Given the description of an element on the screen output the (x, y) to click on. 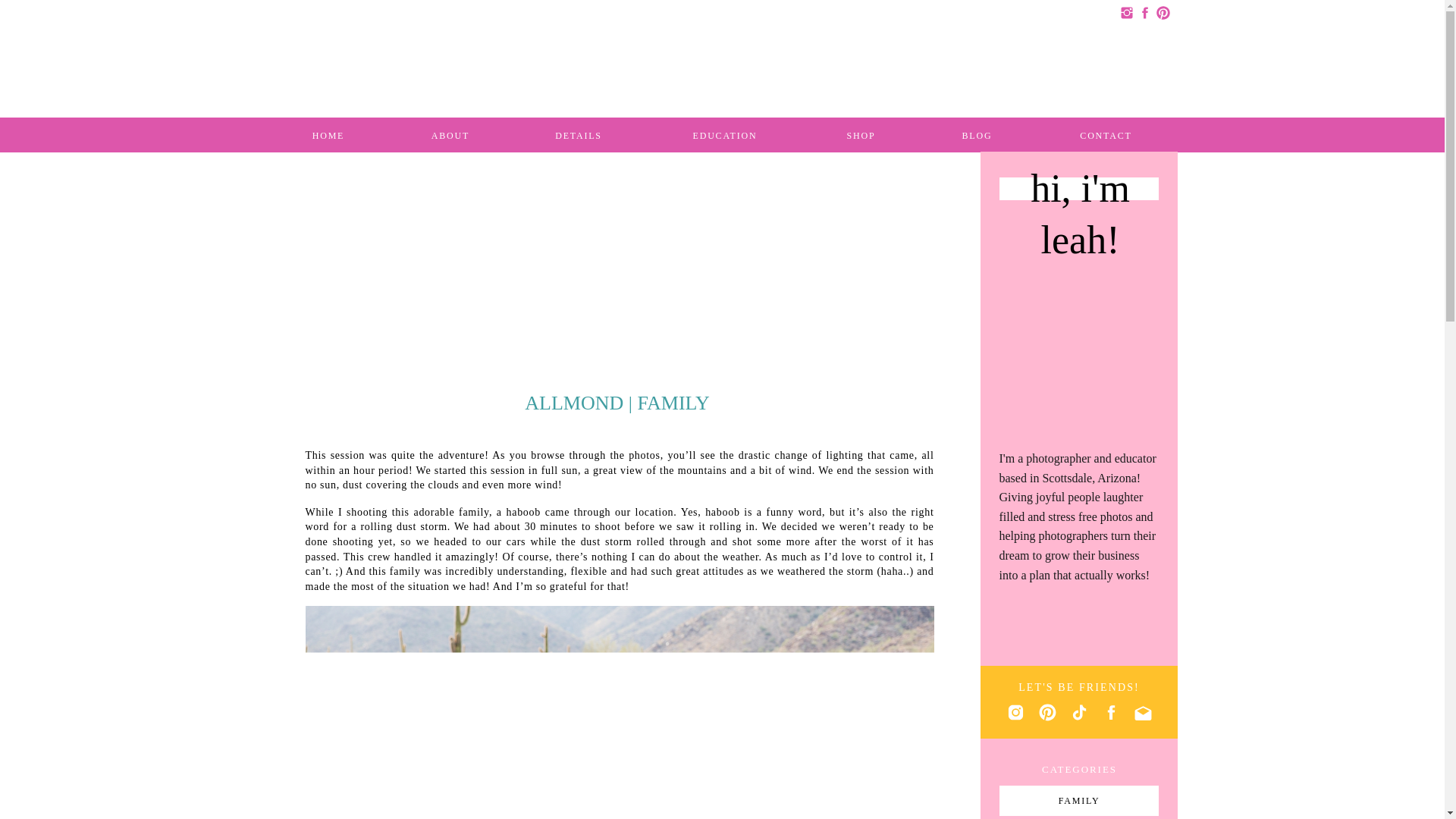
DETAILS (578, 134)
EDUCATION (725, 134)
CONTACT (1105, 134)
FAMILY (1079, 800)
ABOUT (450, 134)
BLOG (976, 134)
HOME (327, 134)
SHOP (860, 134)
